Given the description of an element on the screen output the (x, y) to click on. 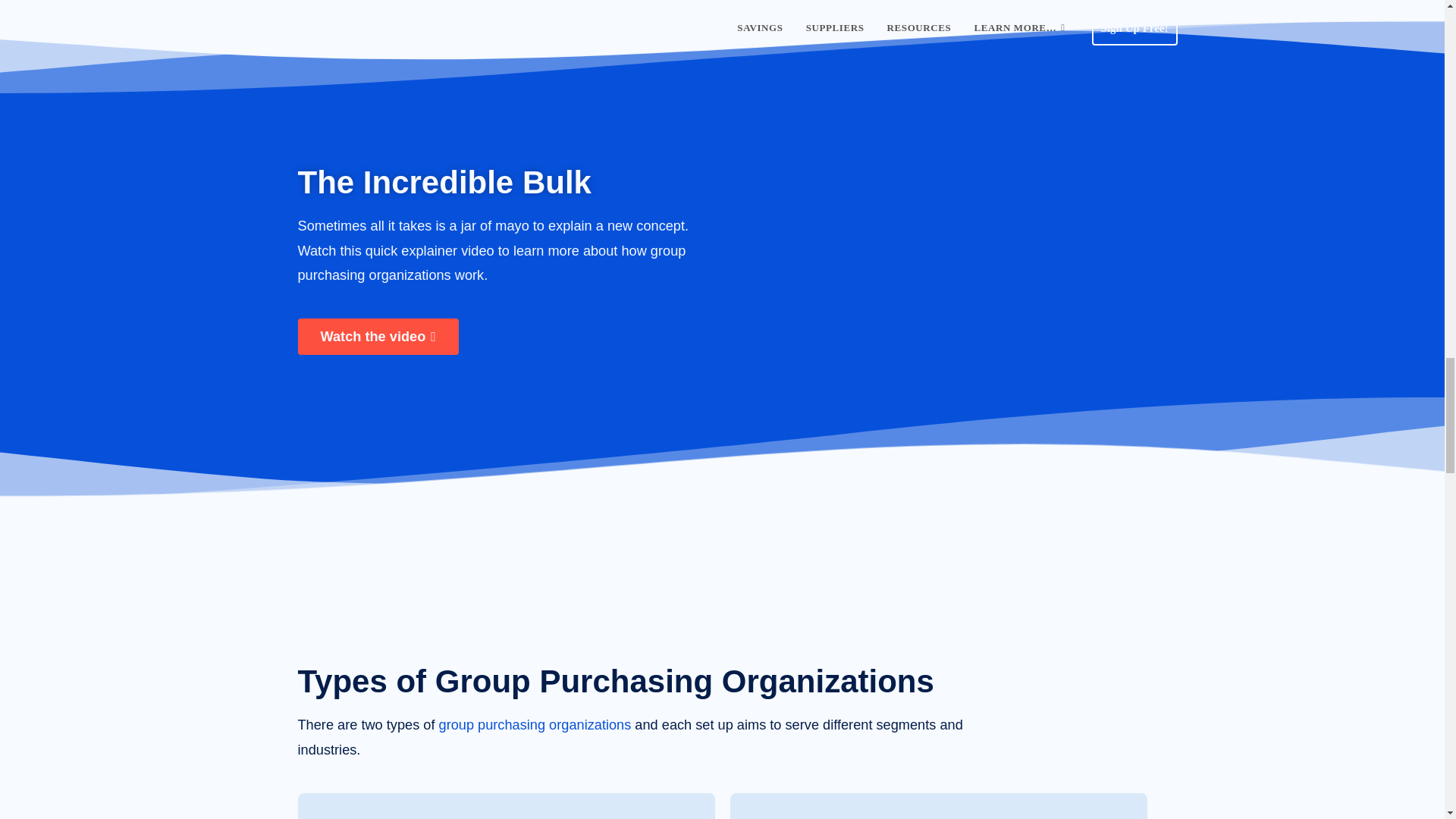
Watch the video (377, 336)
group purchasing organizations (535, 724)
